Given the description of an element on the screen output the (x, y) to click on. 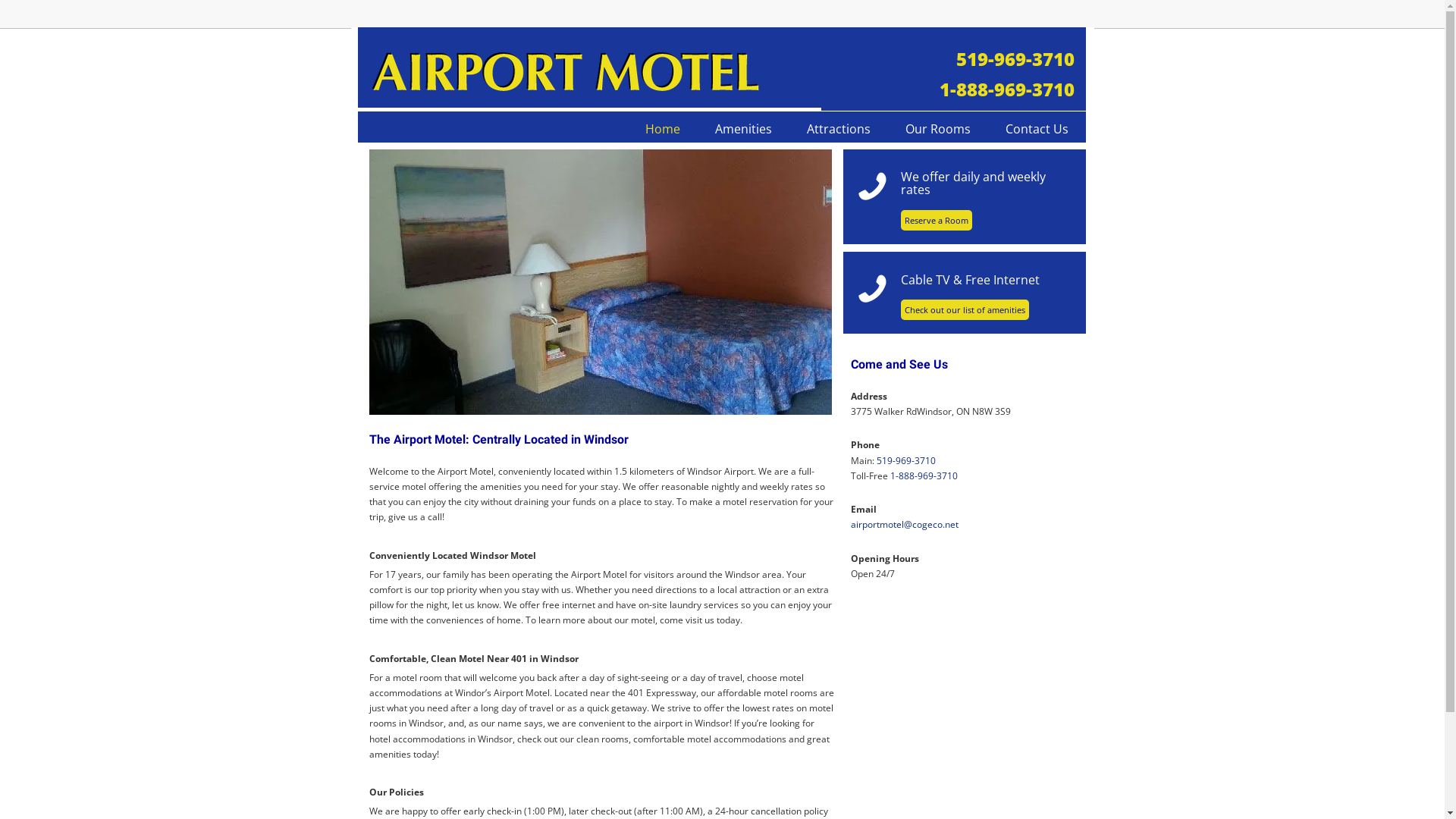
519-969-3710 Element type: text (905, 460)
Contact Us Element type: text (1036, 128)
Home Element type: text (662, 128)
Check out our list of amenities Element type: text (964, 309)
519-969-3710 Element type: text (1014, 58)
1-888-969-3710 Element type: text (923, 475)
Amenities Element type: text (743, 128)
1-888-969-3710 Element type: text (1005, 88)
airportmotel@cogeco.net Element type: text (904, 523)
Embedded Content Element type: hover (943, 22)
Reserve a Room Element type: text (936, 220)
Our Rooms Element type: text (937, 128)
Embedded Content Element type: hover (1069, 19)
Attractions Element type: text (837, 128)
